Given the description of an element on the screen output the (x, y) to click on. 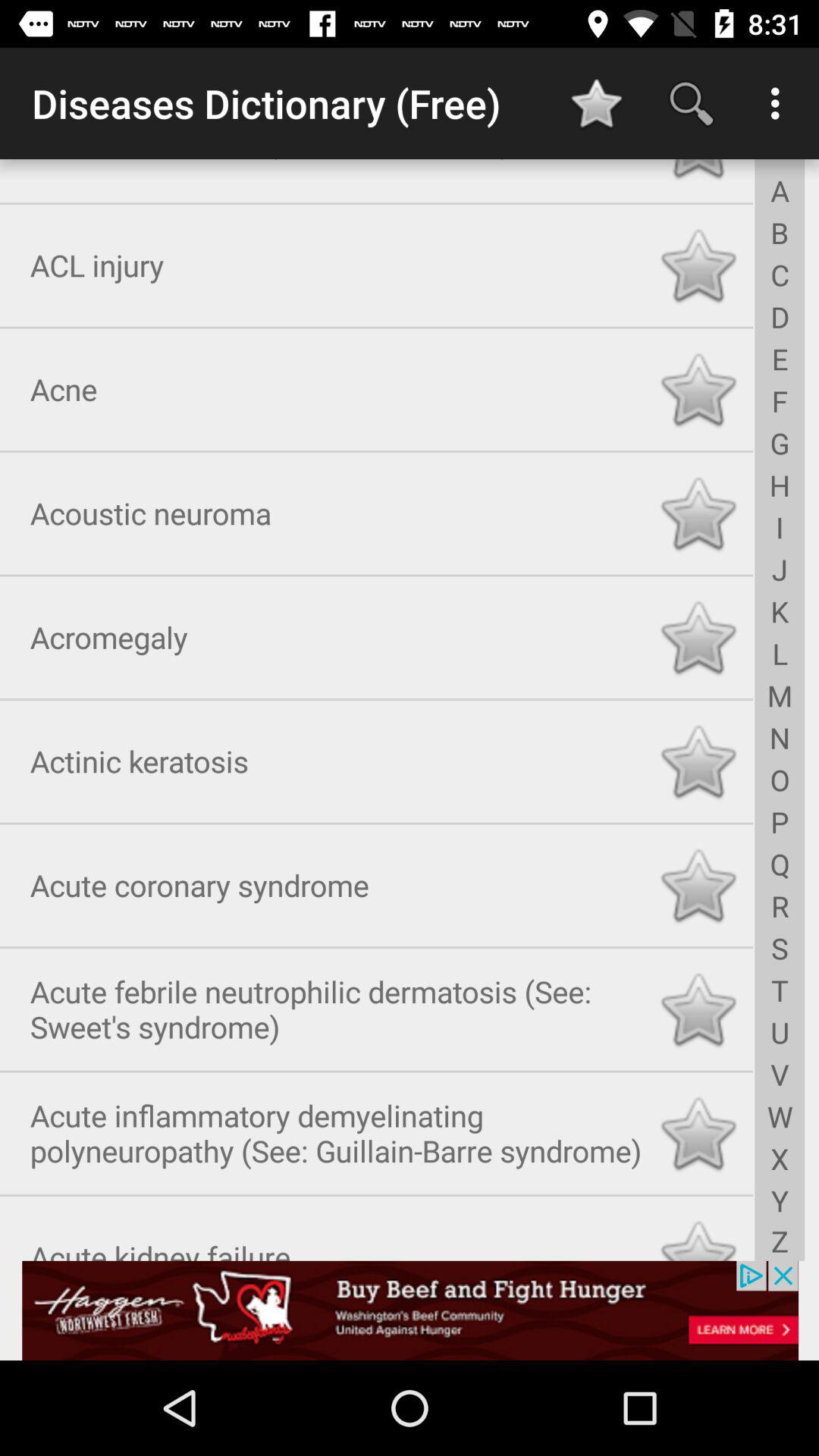
star (697, 758)
